Given the description of an element on the screen output the (x, y) to click on. 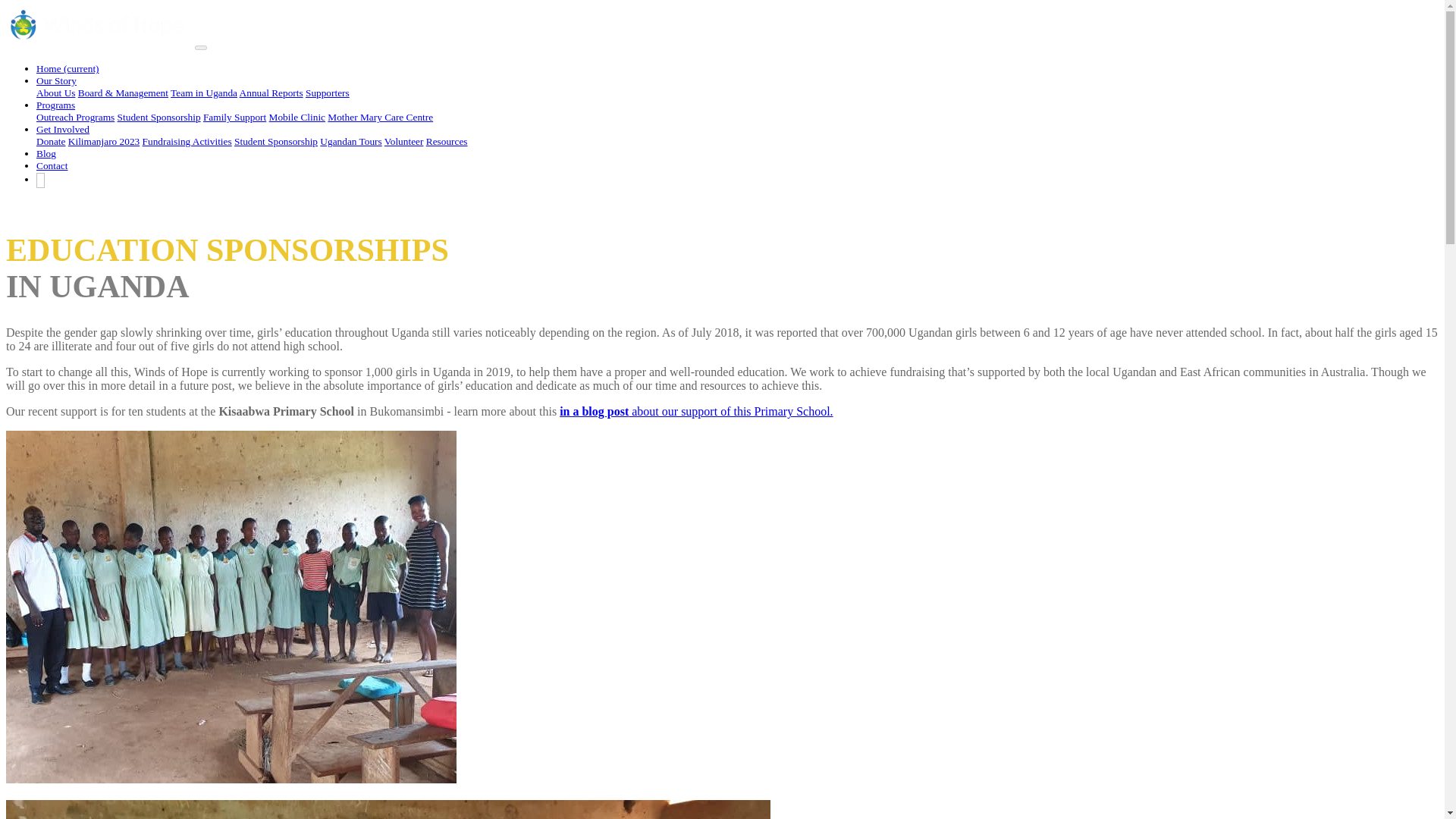
Mobile Clinic (296, 116)
Volunteer (403, 141)
Donate (24, 203)
Ugandan Tours (350, 141)
Resources (446, 141)
Mother Mary Care Centre (379, 116)
Family Support (234, 116)
Donate (50, 141)
Annual Reports (271, 92)
Get Involved (62, 129)
Contact (51, 165)
Outreach Programs (75, 116)
Team in Uganda (203, 92)
Blog (46, 153)
Fundraising Activities (186, 141)
